Given the description of an element on the screen output the (x, y) to click on. 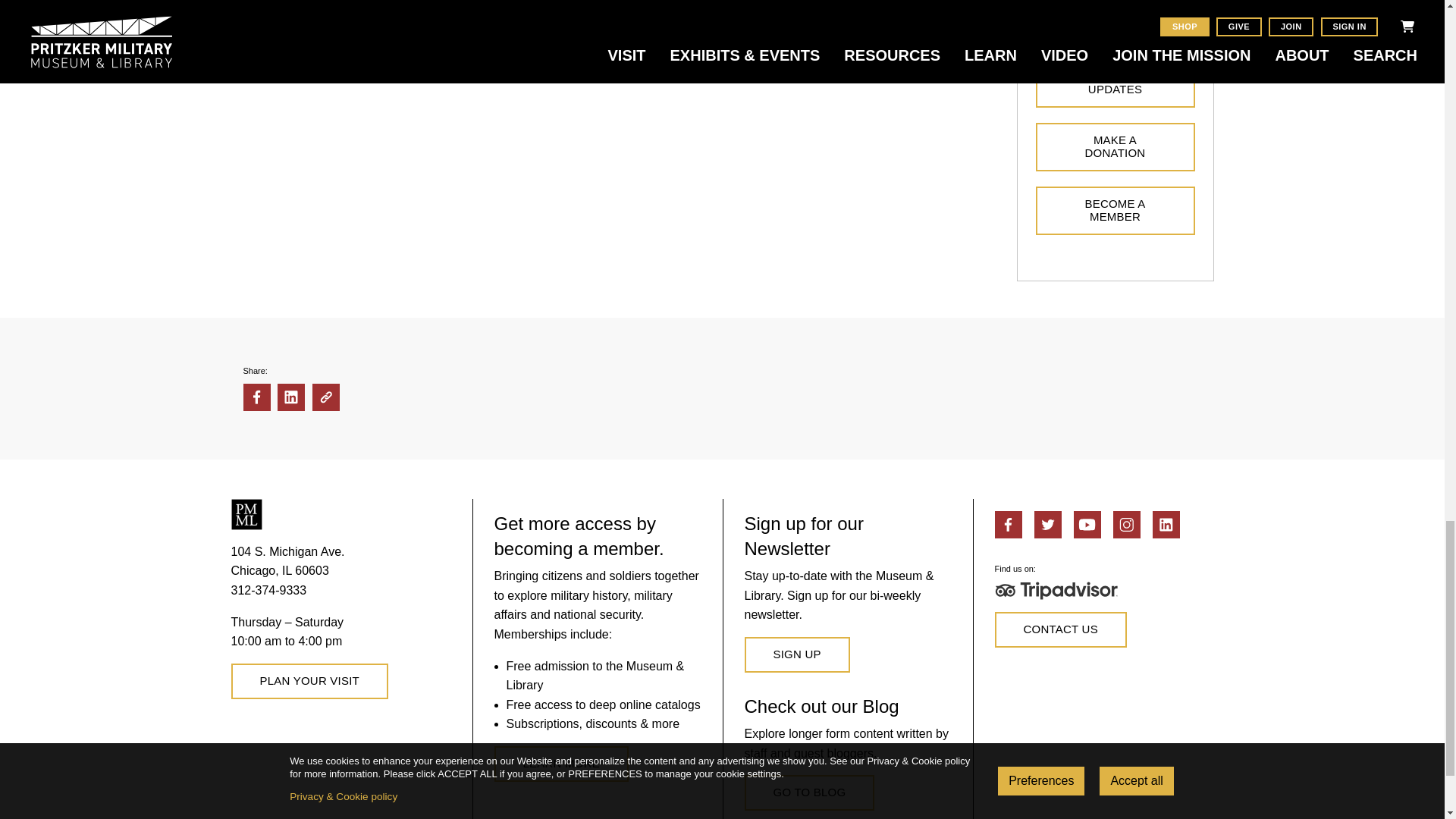
Share to E-mail (326, 397)
Youtube (1087, 524)
Share to Linkedin (291, 397)
Share to Facebook (256, 397)
LinkIn (1166, 524)
Facebook (1008, 524)
Twitter (1047, 524)
Instagram (1126, 524)
